Given the description of an element on the screen output the (x, y) to click on. 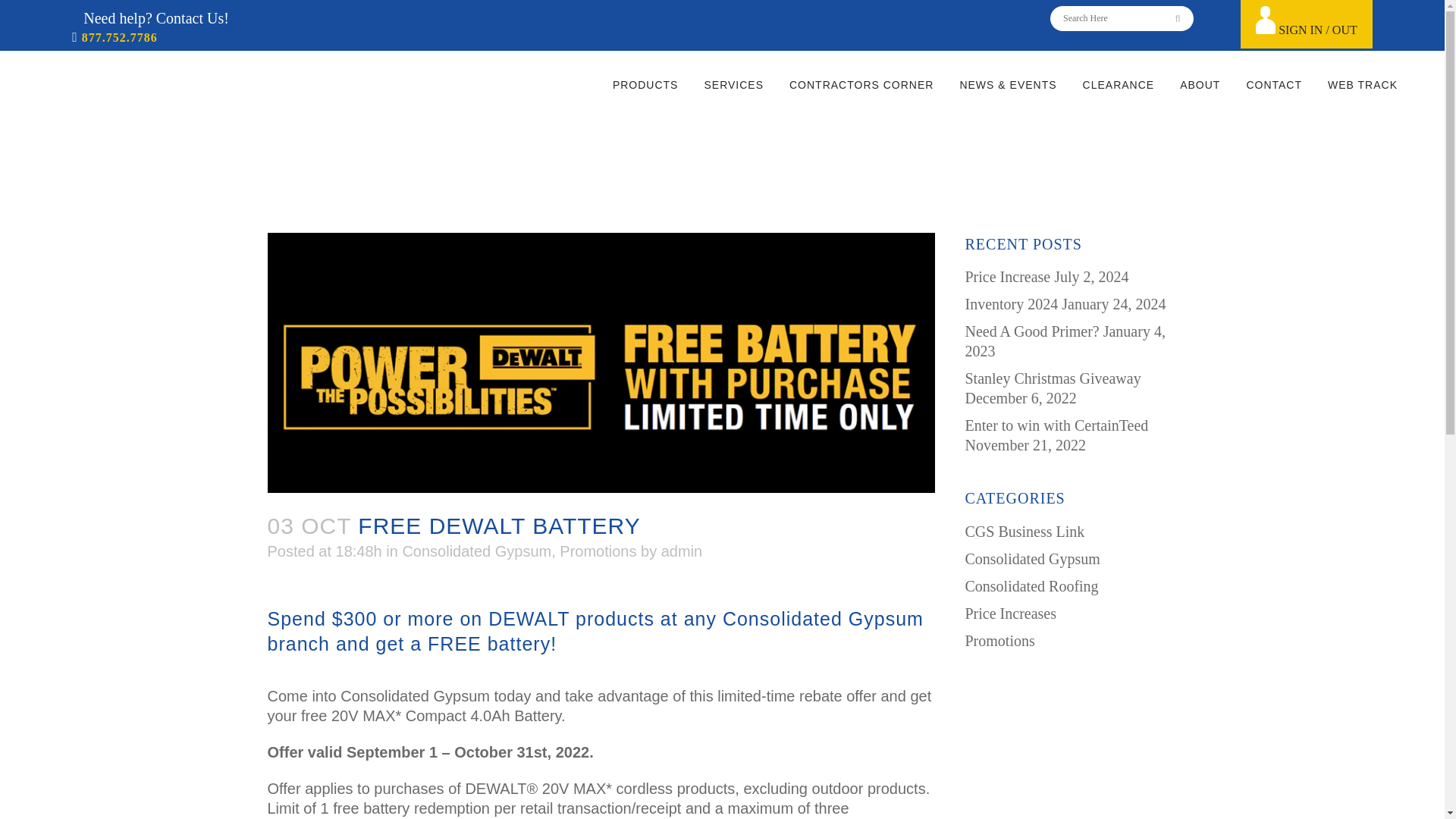
WEB TRACK (1362, 84)
Promotions (597, 550)
ABOUT (1200, 84)
SERVICES (733, 84)
CONTACT (1273, 84)
877.752.7786 (117, 37)
admin (681, 550)
Inventory 2024 (1010, 303)
CLEARANCE (1118, 84)
CONTRACTORS CORNER (861, 84)
